Given the description of an element on the screen output the (x, y) to click on. 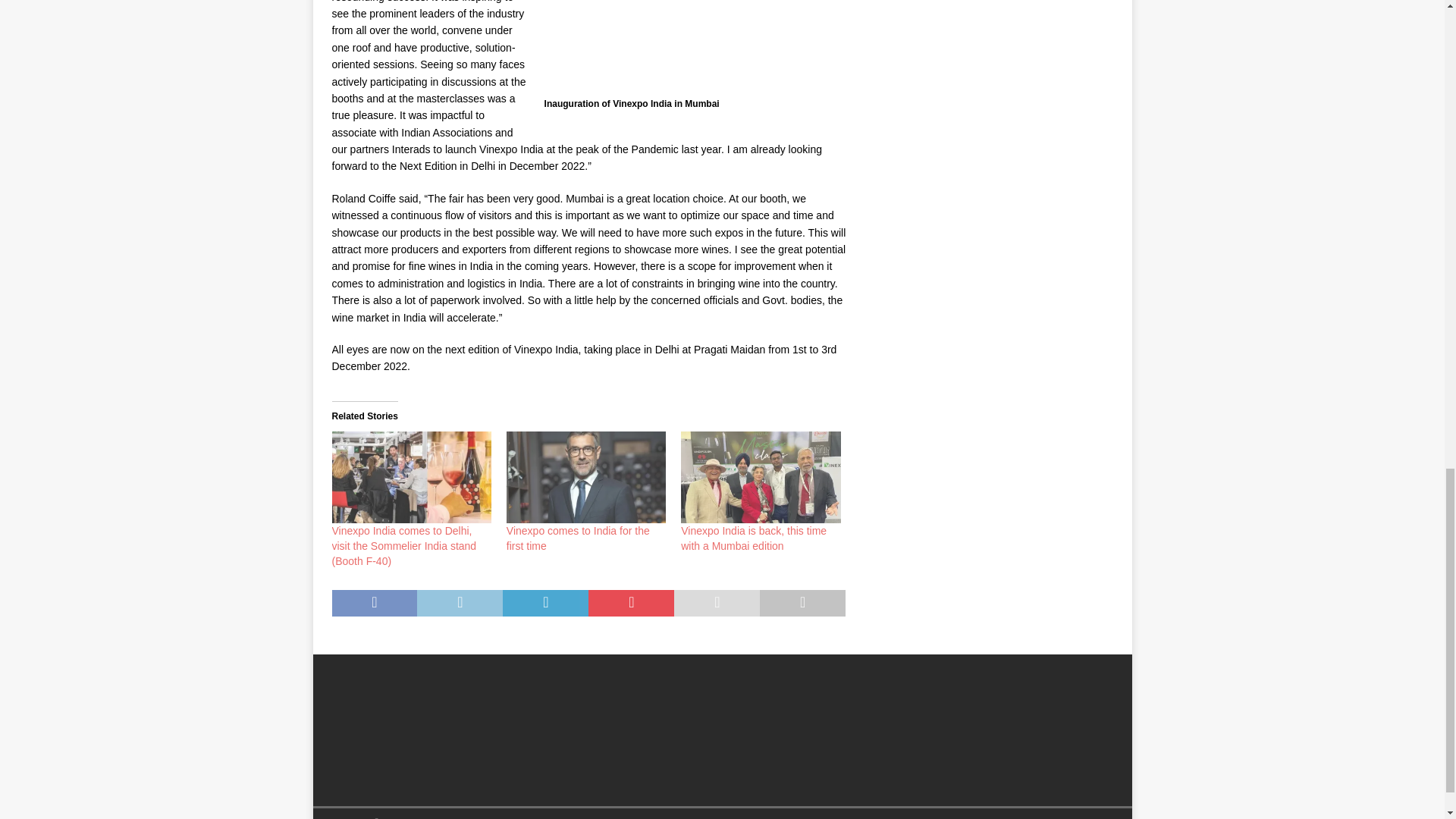
Vinexpo comes to India for the first time (585, 476)
Vinexpo comes to India for the first time (577, 538)
Vinexpo India is back, this time with a Mumbai edition (754, 538)
Vinexpo India is back, this time with a Mumbai edition (760, 476)
